Given the description of an element on the screen output the (x, y) to click on. 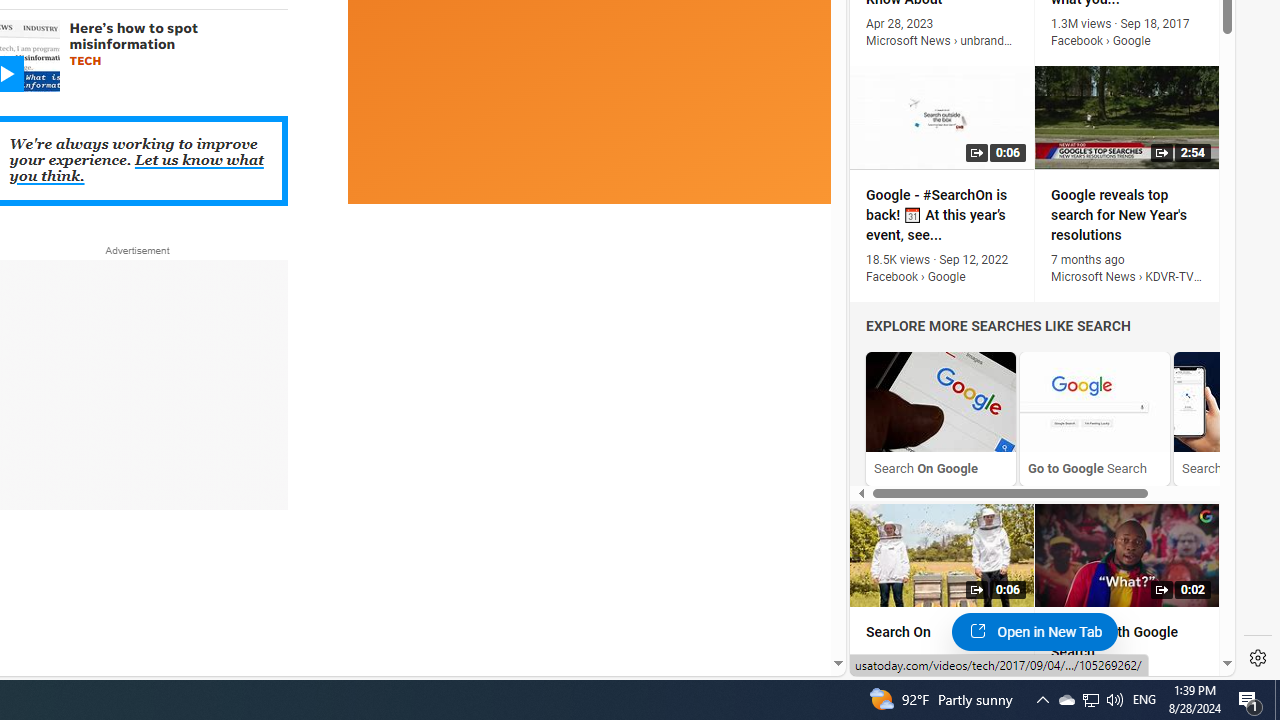
Go to Google Search (1094, 418)
Search On Google (941, 418)
Go to Google Search (1094, 401)
Search On Google (941, 401)
